Given the description of an element on the screen output the (x, y) to click on. 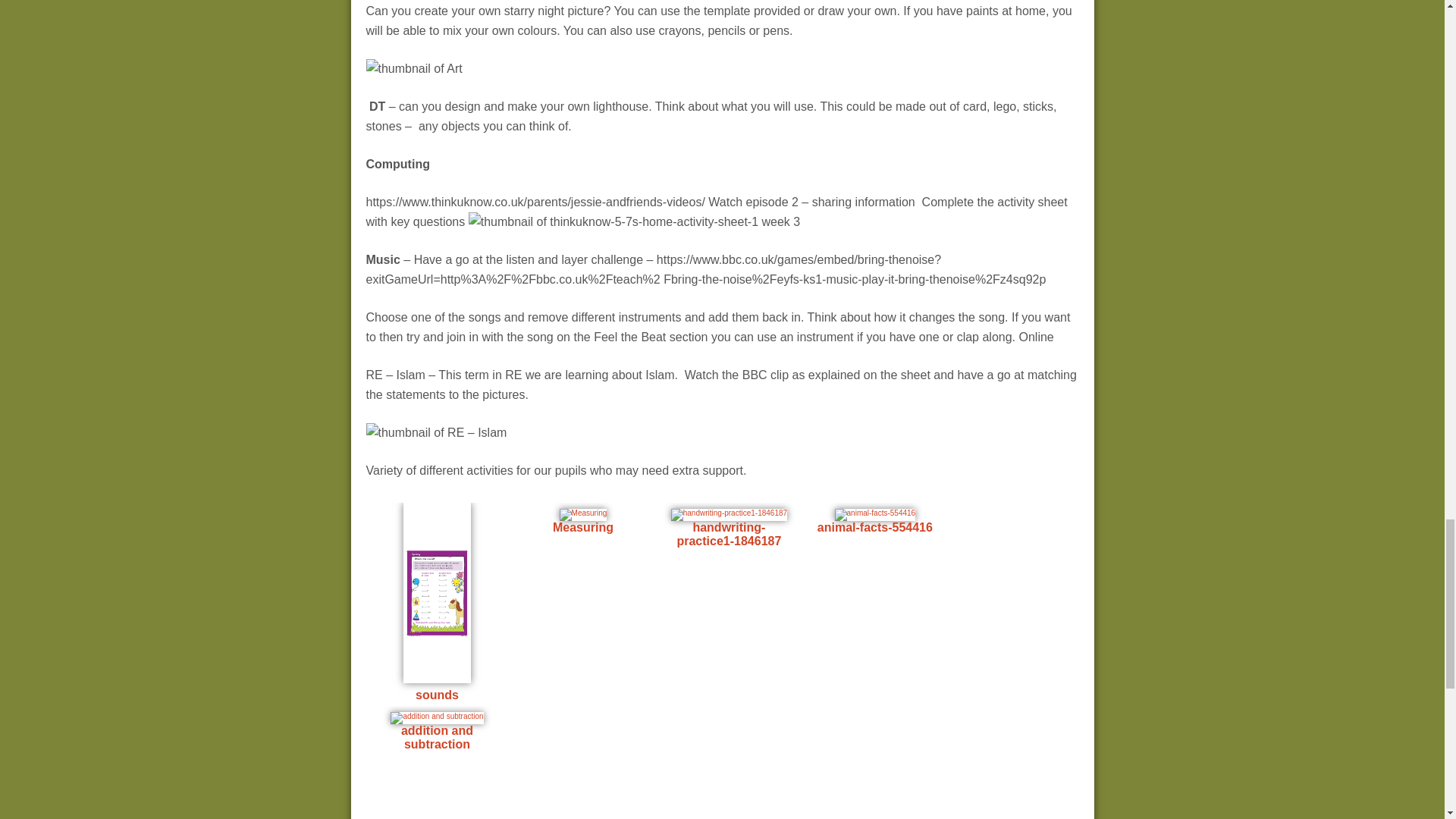
animal-facts-554416 (874, 514)
Measuring (583, 514)
handwriting-practice1-1846187 (729, 514)
addition and subtraction (436, 717)
